Given the description of an element on the screen output the (x, y) to click on. 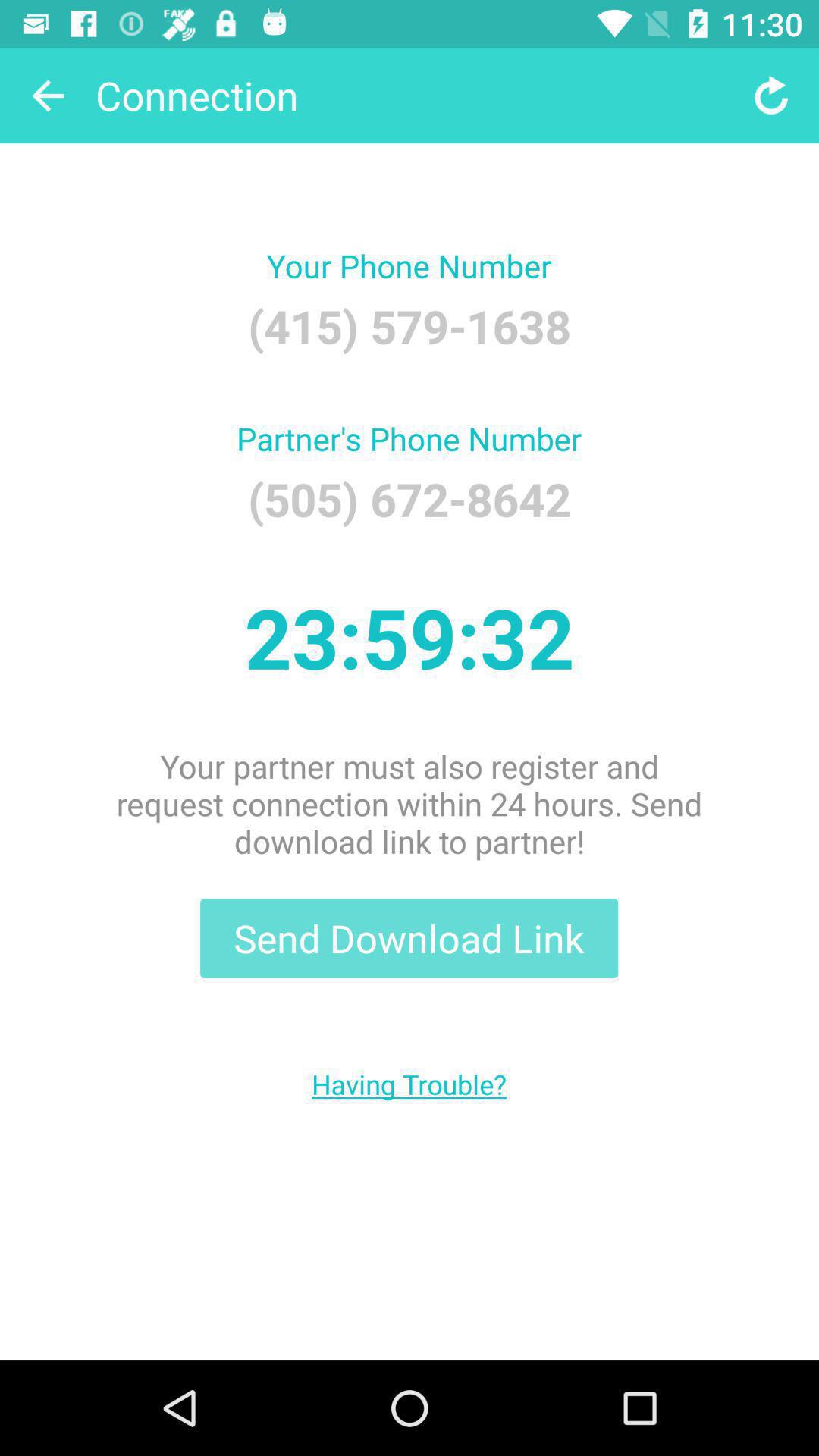
choose item below send download link item (408, 1083)
